Given the description of an element on the screen output the (x, y) to click on. 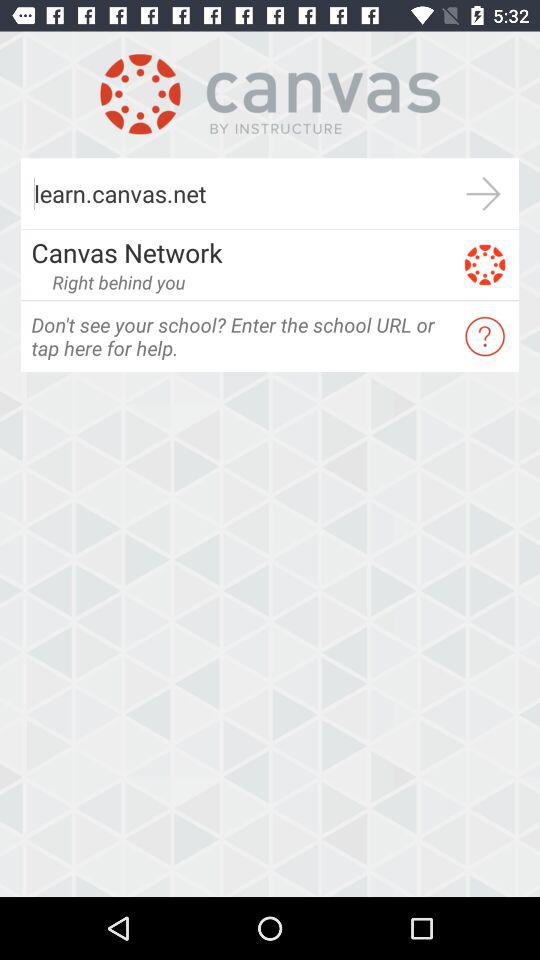
scroll to the don t see item (240, 336)
